Given the description of an element on the screen output the (x, y) to click on. 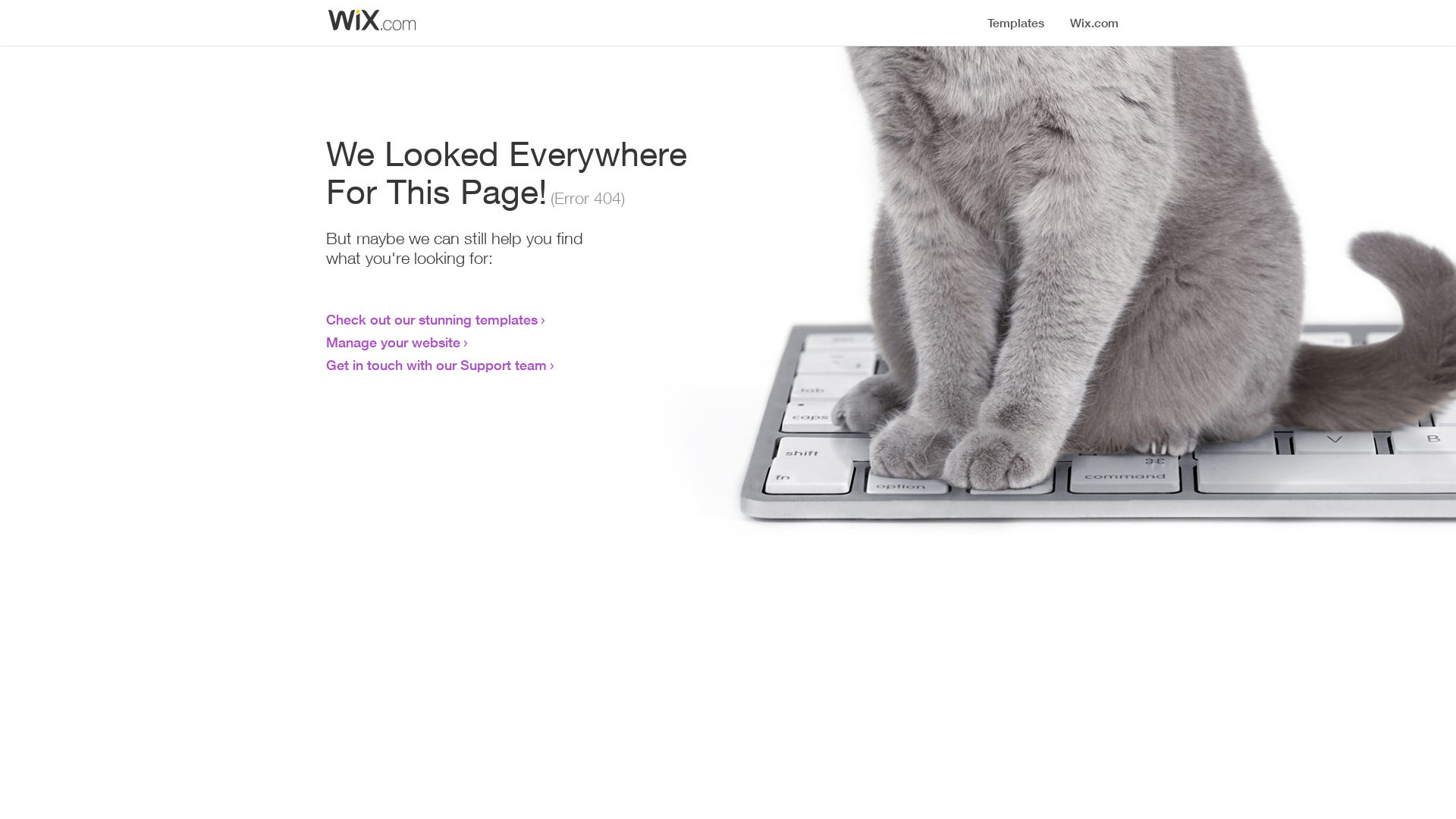
Get in touch with our Support team Element type: text (436, 364)
Manage your website Element type: text (393, 341)
Check out our stunning templates Element type: text (431, 318)
